Given the description of an element on the screen output the (x, y) to click on. 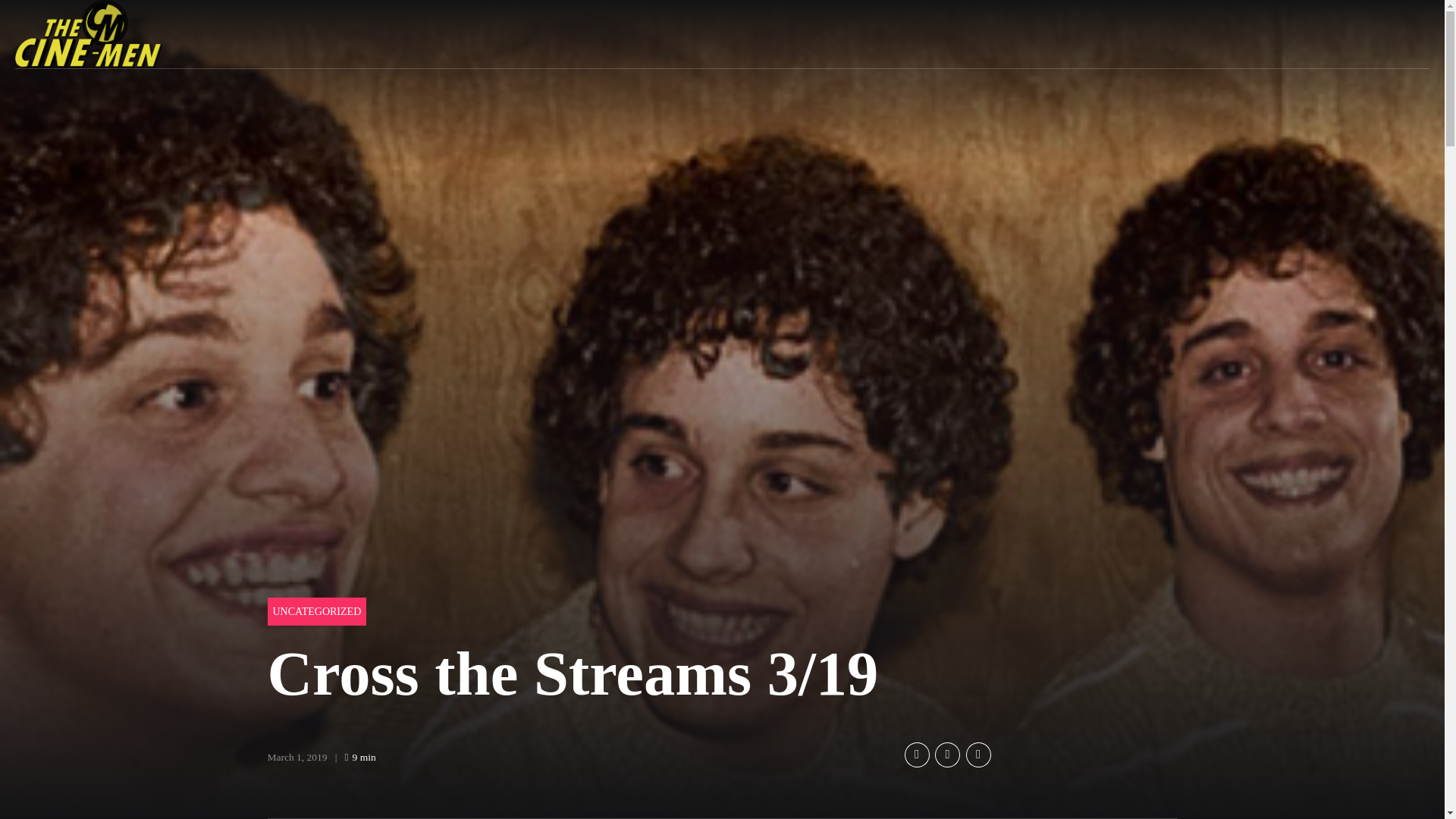
UNCATEGORIZED (316, 611)
Share on Twitter (946, 754)
Share on Facebook (916, 754)
Share on VK (978, 754)
